Given the description of an element on the screen output the (x, y) to click on. 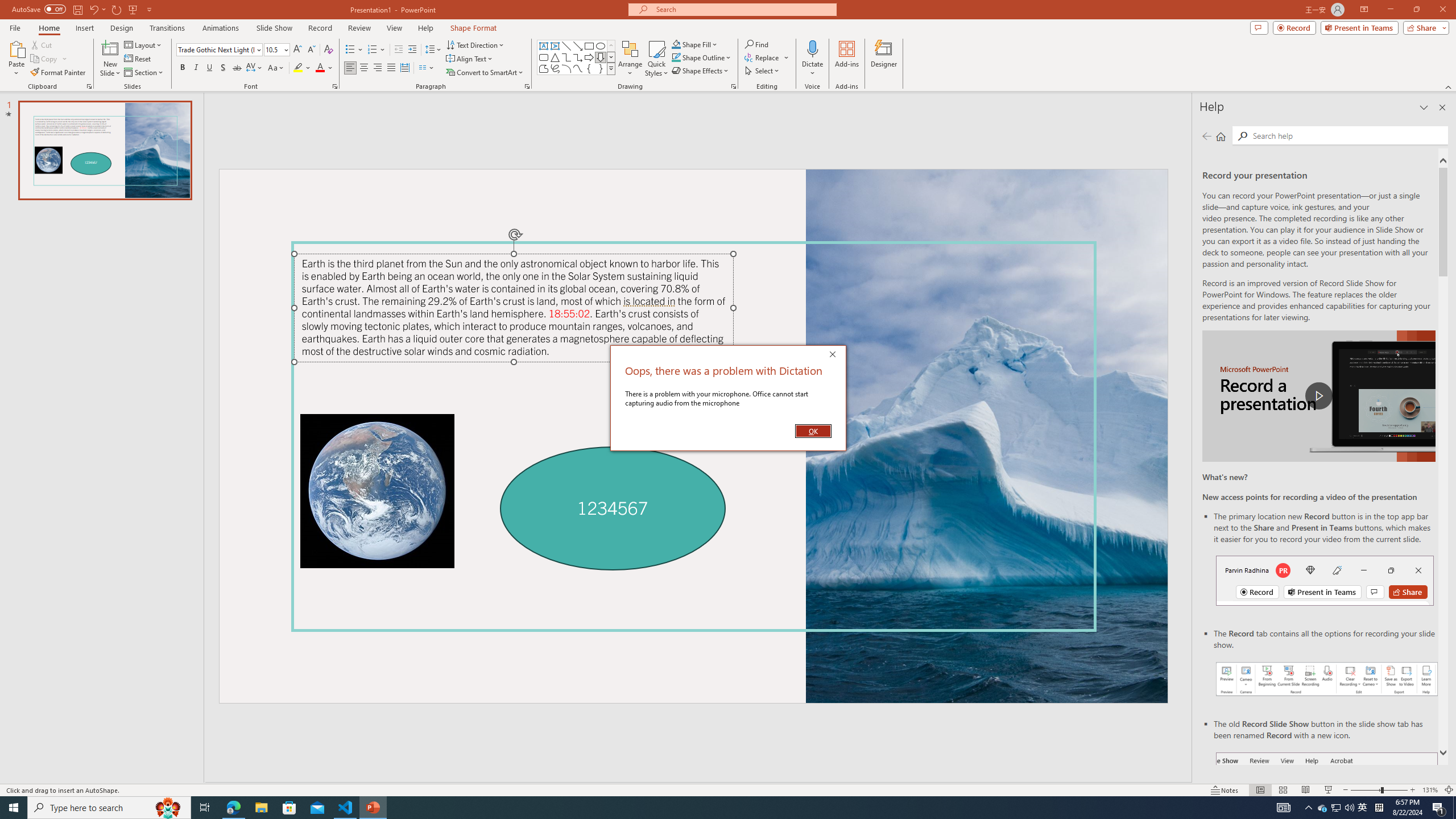
OK (812, 431)
